Given the description of an element on the screen output the (x, y) to click on. 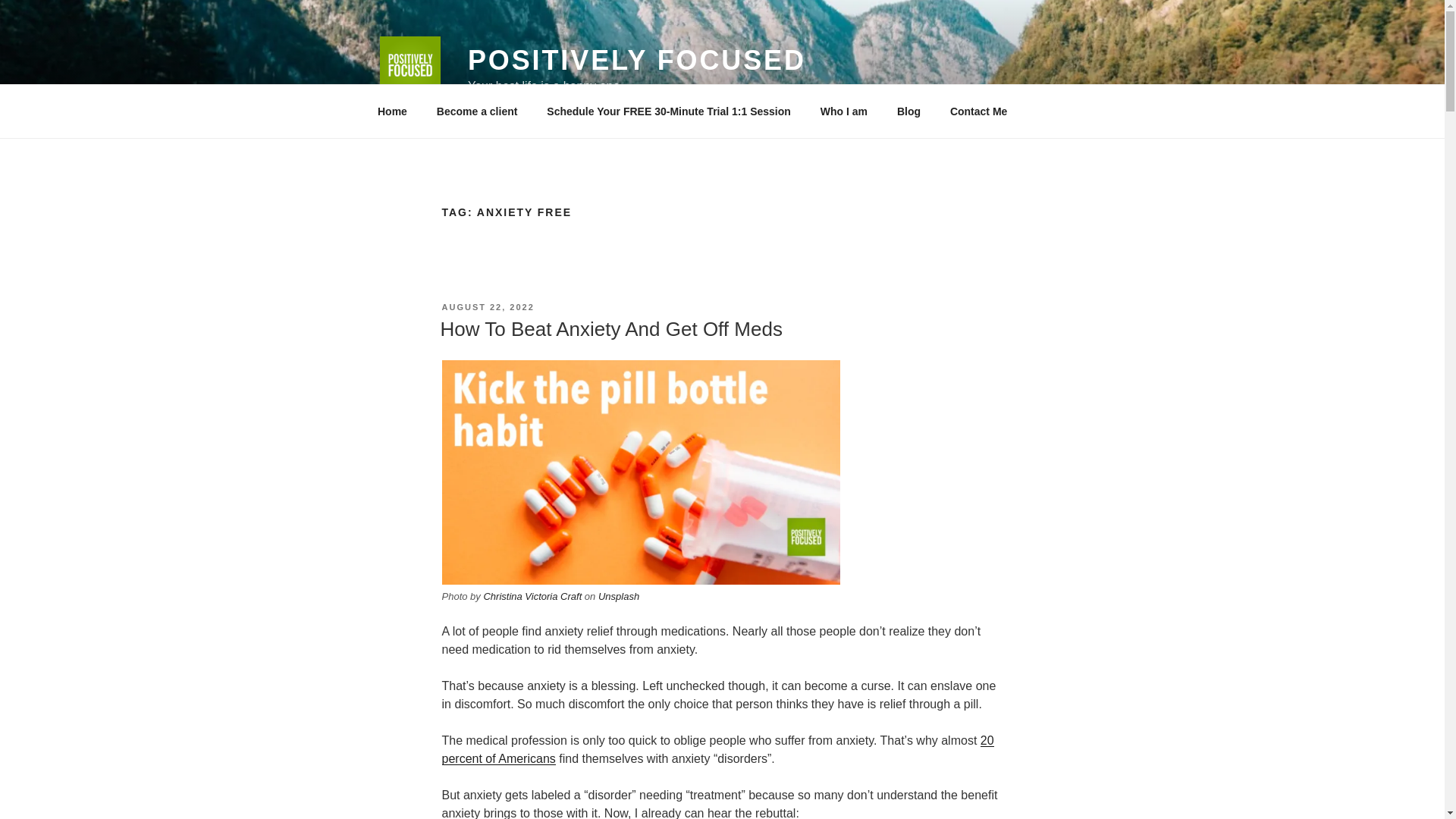
Home (392, 110)
POSITIVELY FOCUSED (636, 60)
Schedule Your FREE 30-Minute Trial 1:1 Session (669, 110)
Unsplash (618, 595)
Christina Victoria Craft (531, 595)
Contact Me (978, 110)
How To Beat Anxiety And Get Off Meds (610, 328)
20 percent of Americans (716, 748)
Become a client (477, 110)
Blog (908, 110)
